Given the description of an element on the screen output the (x, y) to click on. 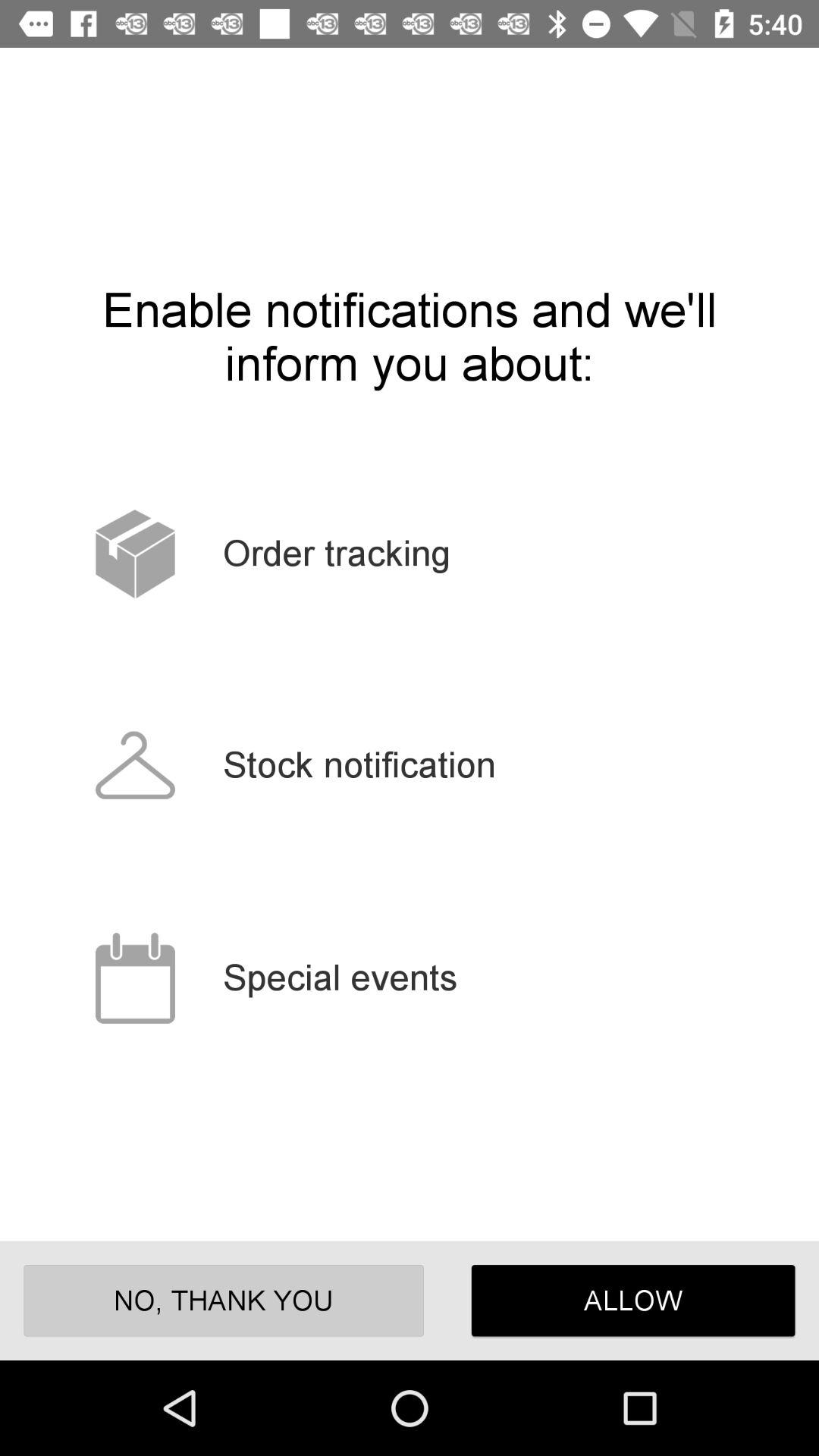
scroll until no, thank you (223, 1300)
